Given the description of an element on the screen output the (x, y) to click on. 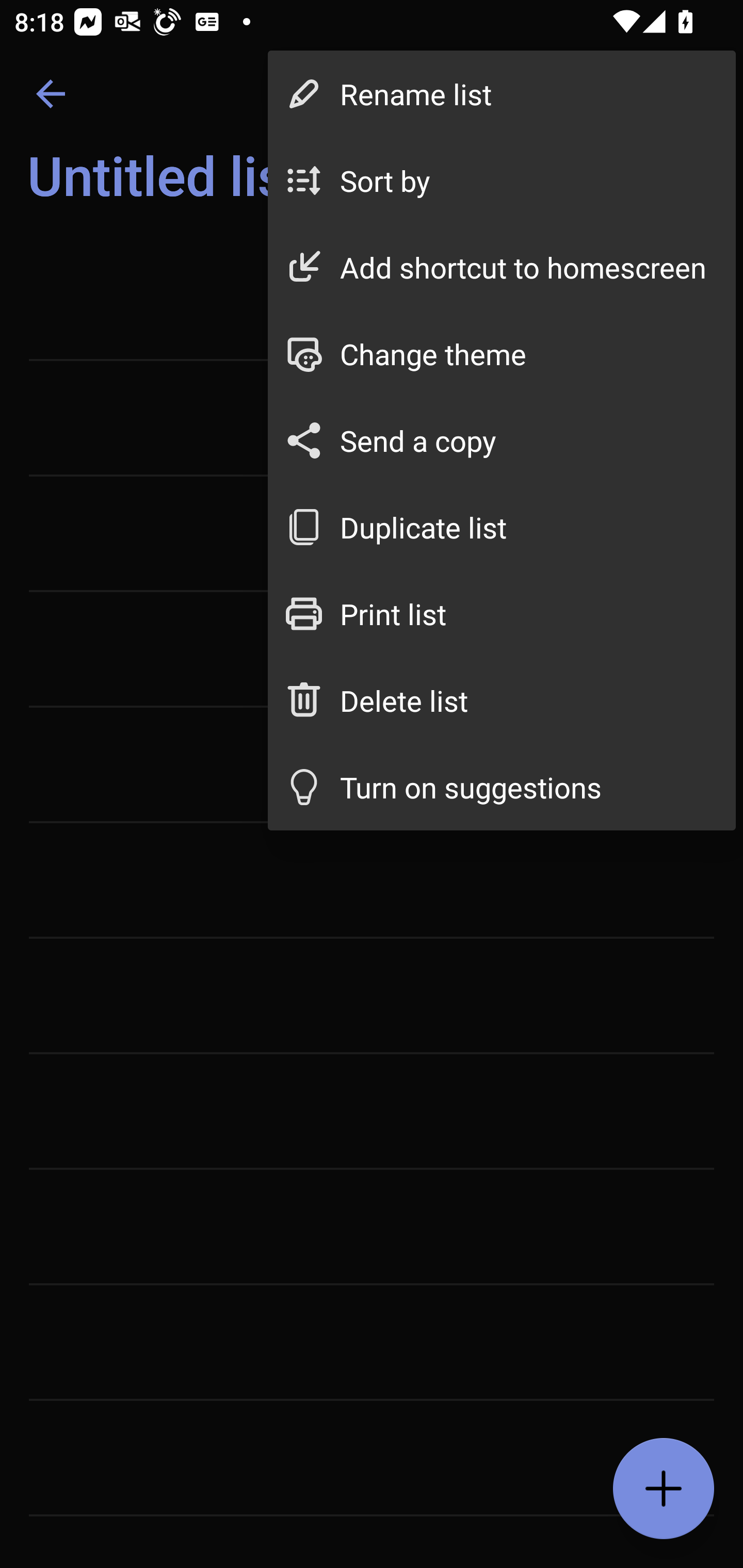
Rename list1 in 9 Rename list (501, 93)
Sort by2 in 9 Sort by (501, 180)
Change theme4 in 9 Change theme (501, 353)
Send a copy5 in 9 Send a copy (501, 440)
Duplicate list6 in 9 Duplicate list (501, 527)
Print list7 in 9 Print list (501, 613)
Delete list8 in 9 Delete list (501, 699)
Turn on suggestions9 in 9 Turn on suggestions (501, 787)
